Given the description of an element on the screen output the (x, y) to click on. 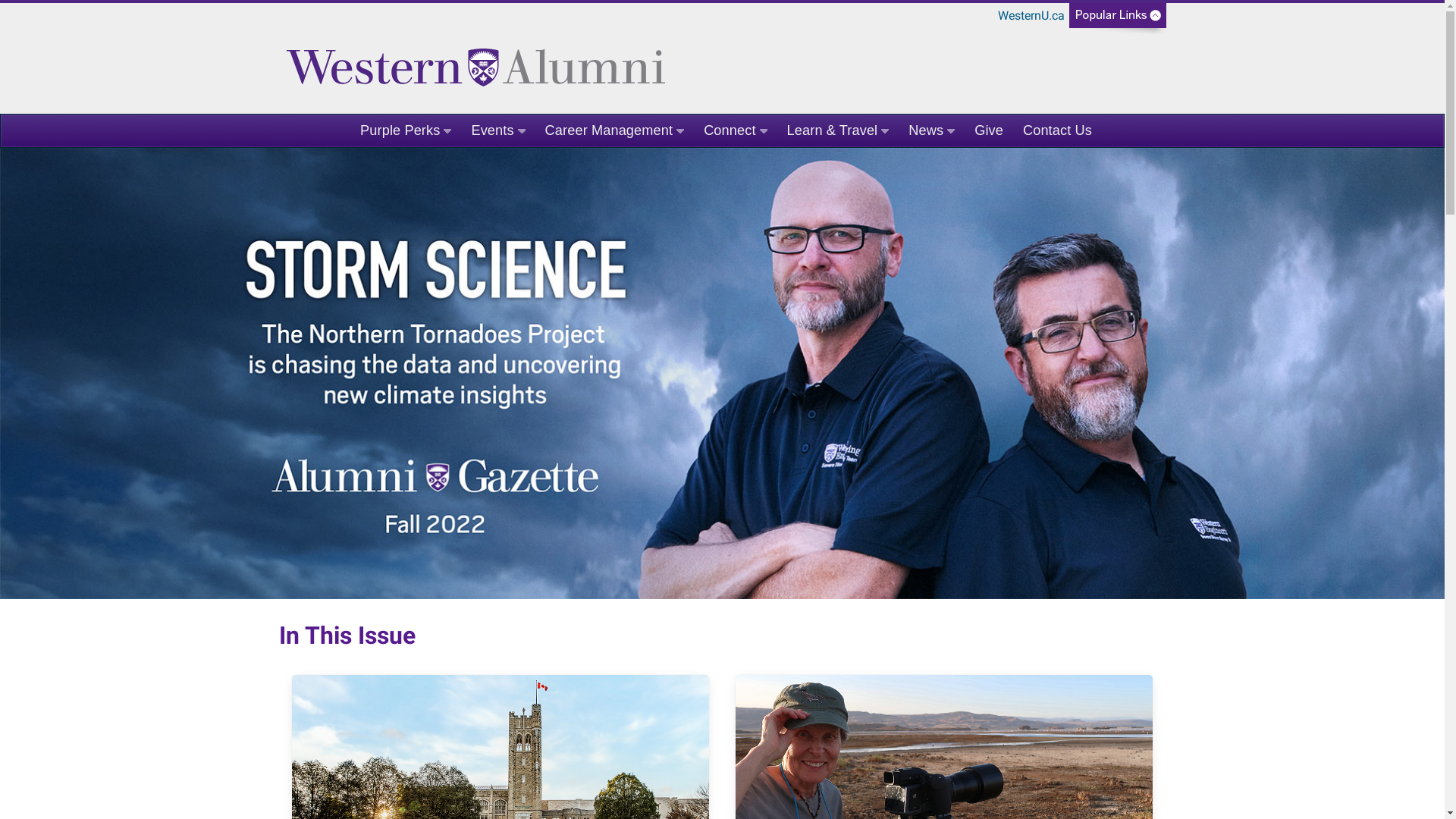
Learn & Travel Element type: text (838, 130)
People search, maps, directories, and frequently-used links Element type: hover (1117, 20)
News Element type: text (931, 130)
Connect Element type: text (734, 130)
Purple Perks Element type: text (405, 130)
Events Element type: text (497, 130)
Contact Us Element type: text (1057, 130)
Career Management Element type: text (614, 130)
WesternU.ca Element type: text (1031, 15)
Give Element type: text (988, 130)
